Given the description of an element on the screen output the (x, y) to click on. 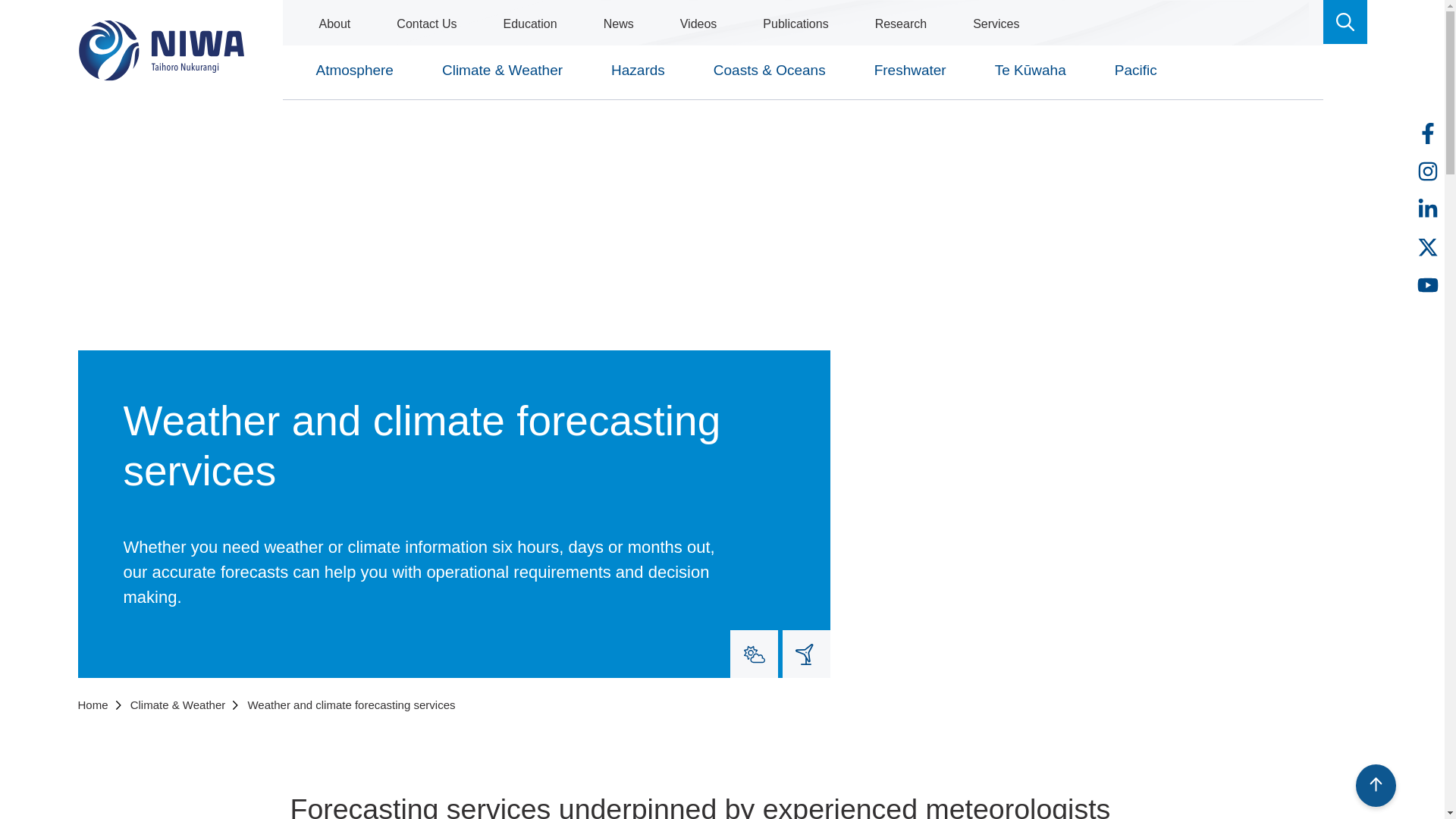
Climate and weather (753, 653)
Contact us for all your enquiries about NIWA (426, 23)
Services and products (995, 23)
Back to top (1376, 784)
NIWA is committed to education in New Zealand at all levels. (529, 23)
Go to the Homepage (160, 50)
Atmosphere (353, 78)
